Given the description of an element on the screen output the (x, y) to click on. 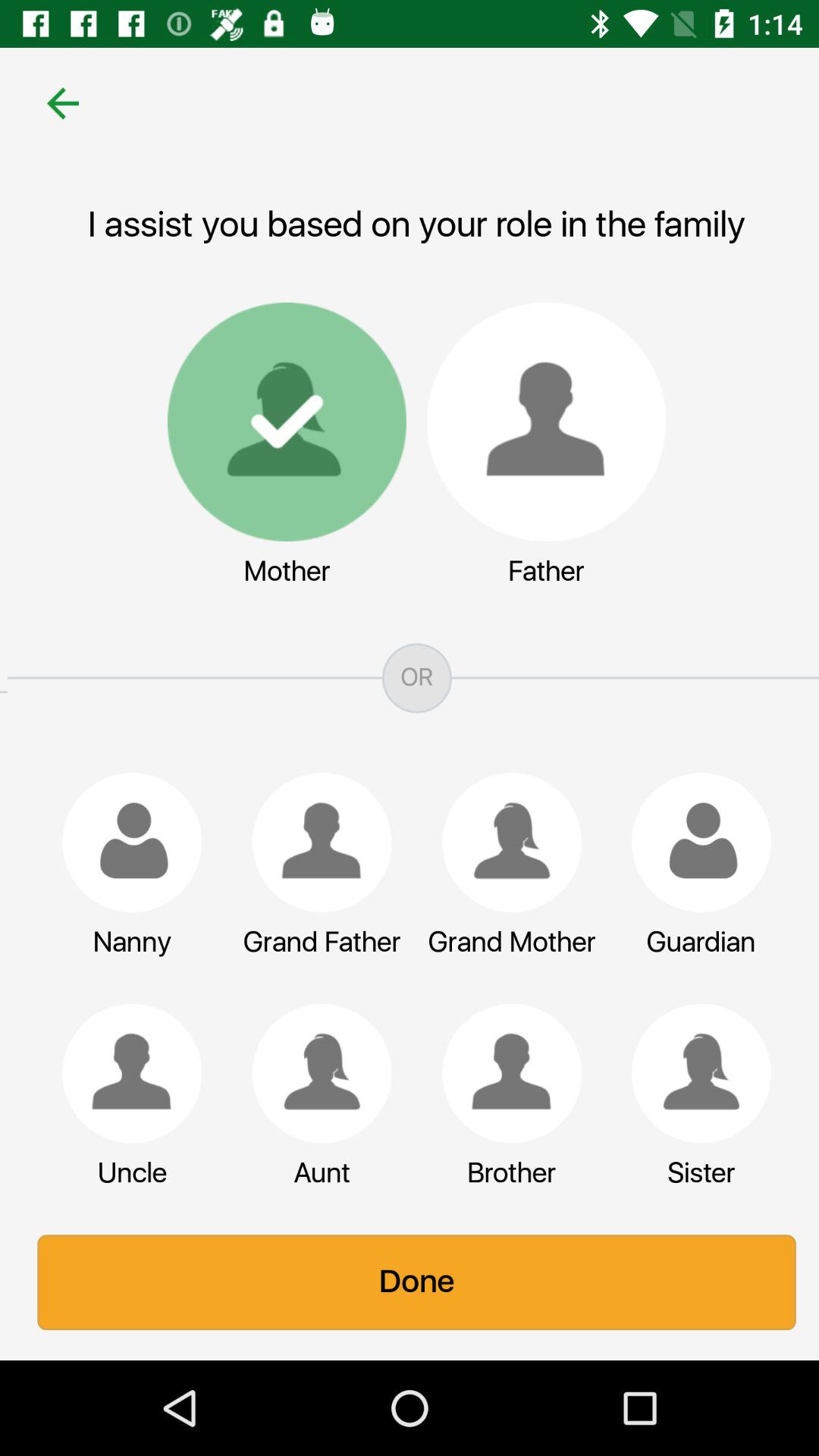
choose indicated item (504, 842)
